Given the description of an element on the screen output the (x, y) to click on. 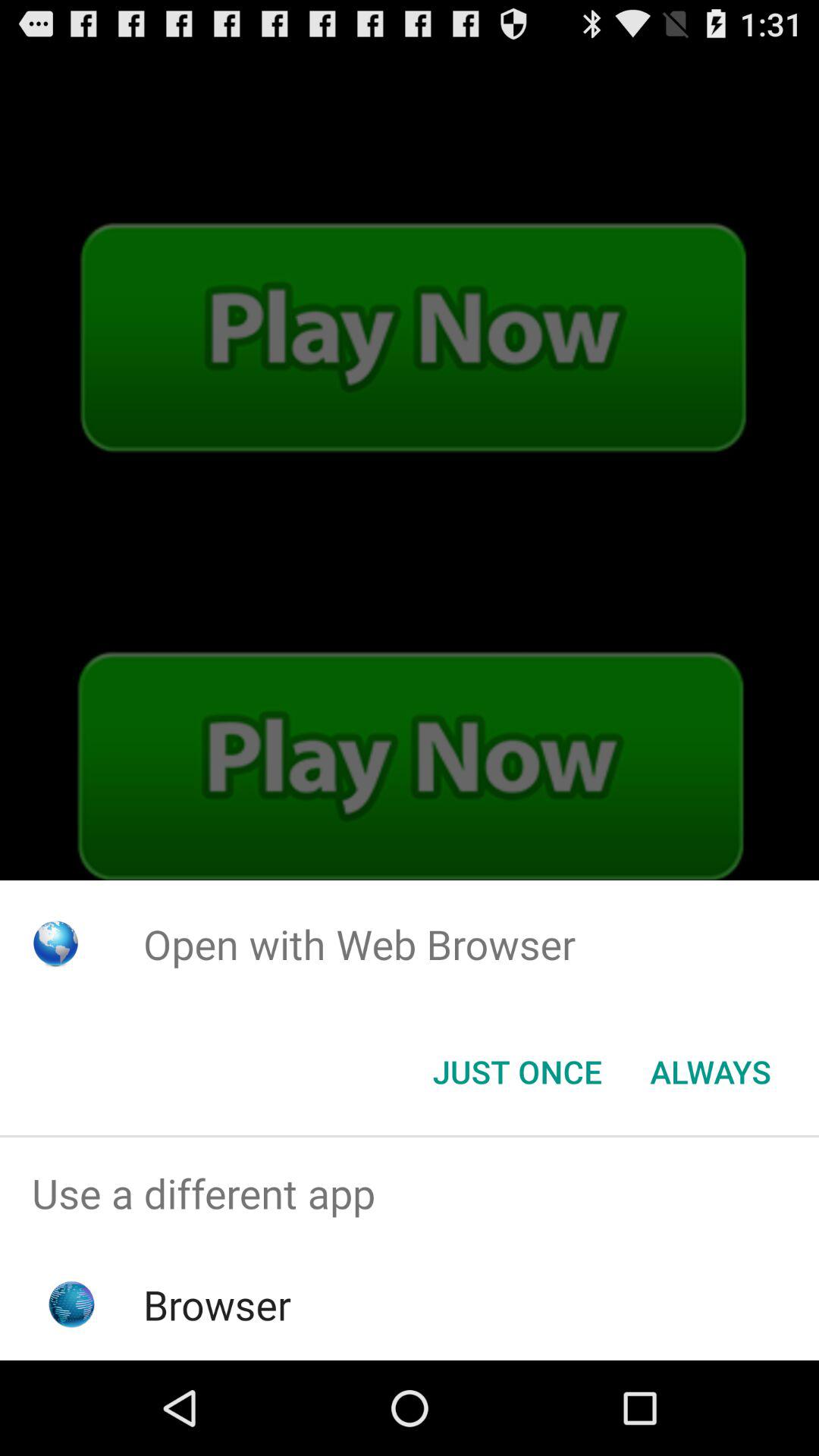
press app above browser app (409, 1192)
